Given the description of an element on the screen output the (x, y) to click on. 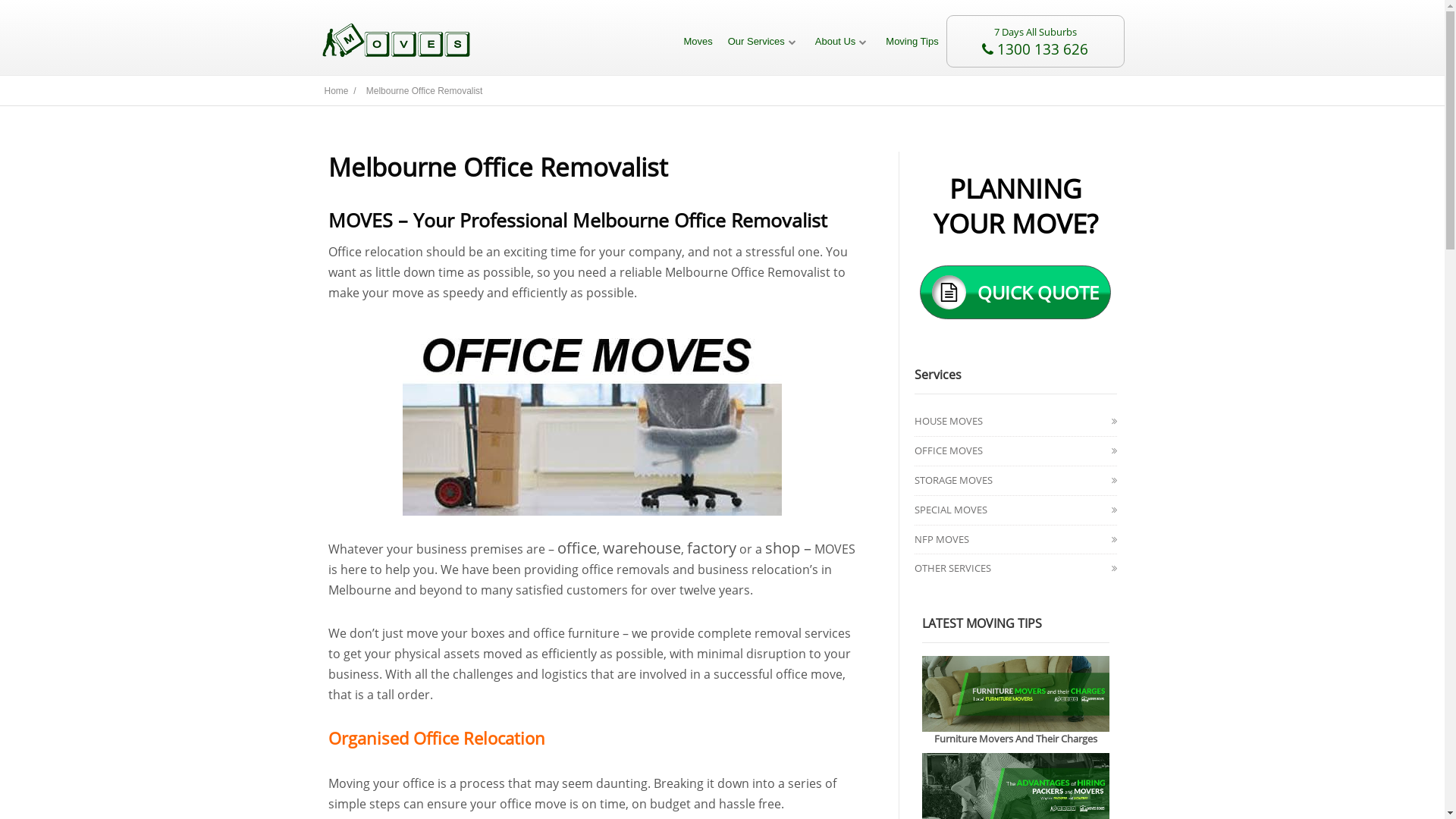
OTHER SERVICES Element type: text (952, 567)
NFP MOVES Element type: text (941, 539)
Moves Element type: text (697, 41)
Our Services Element type: text (764, 41)
7 Days All Suburbs
1300 133 626 Element type: text (1035, 41)
About Us Element type: text (842, 41)
Furniture Movers And Their Charges Element type: text (1015, 738)
HOUSE MOVES Element type: text (948, 420)
OFFICE MOVES Element type: text (948, 450)
SPECIAL MOVES Element type: text (950, 509)
Moving Tips Element type: text (911, 41)
Home  /  Element type: text (340, 90)
STORAGE MOVES Element type: text (953, 479)
QUICK QUOTE Element type: text (1014, 292)
